Given the description of an element on the screen output the (x, y) to click on. 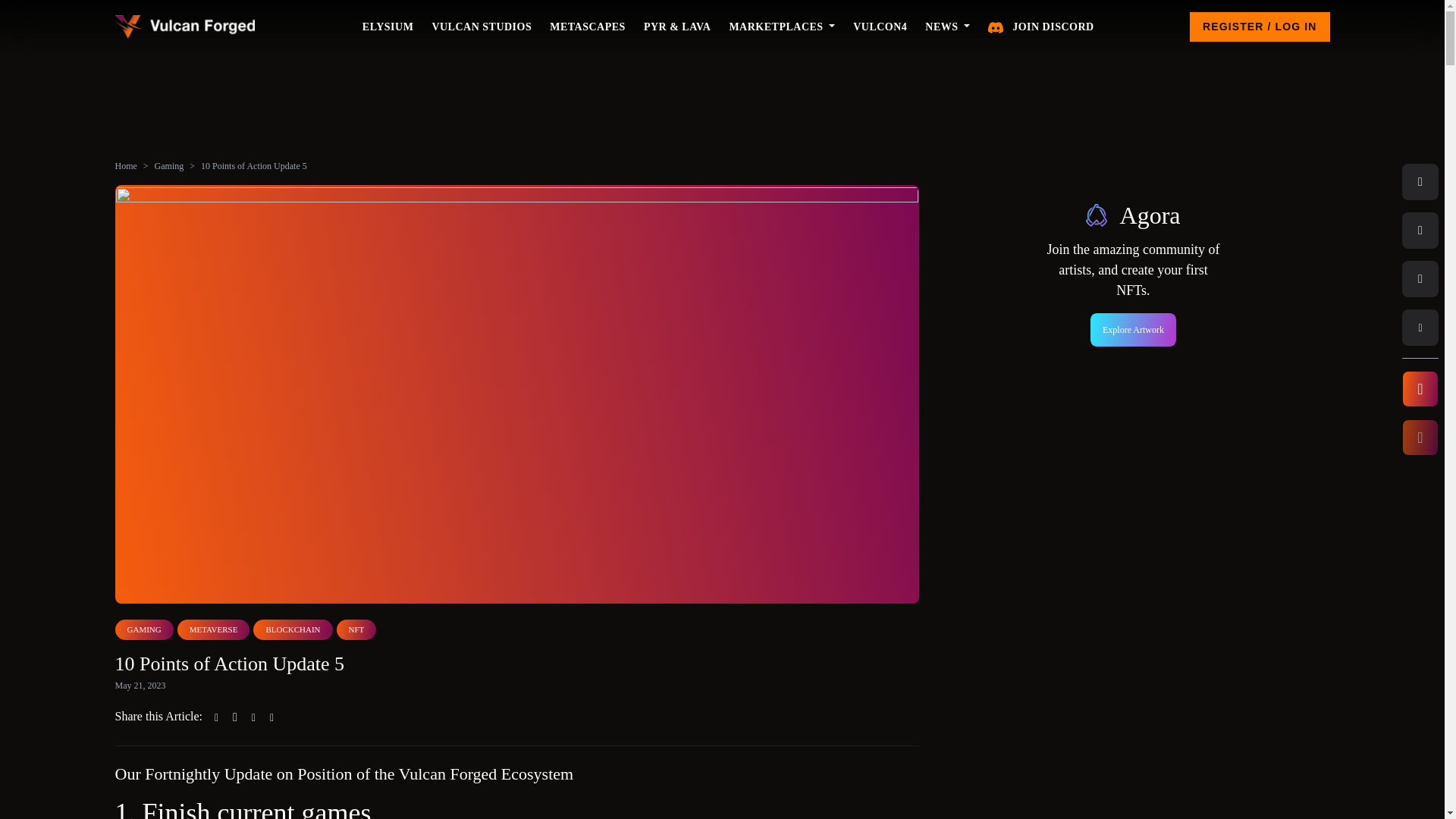
JOIN DISCORD (1040, 26)
NEWS (946, 26)
Home (125, 165)
METASCAPES (587, 26)
VULCON4 (879, 26)
VULCAN STUDIOS (481, 26)
Gaming (169, 165)
MARKETPLACES (781, 26)
ELYSIUM (388, 26)
